Given the description of an element on the screen output the (x, y) to click on. 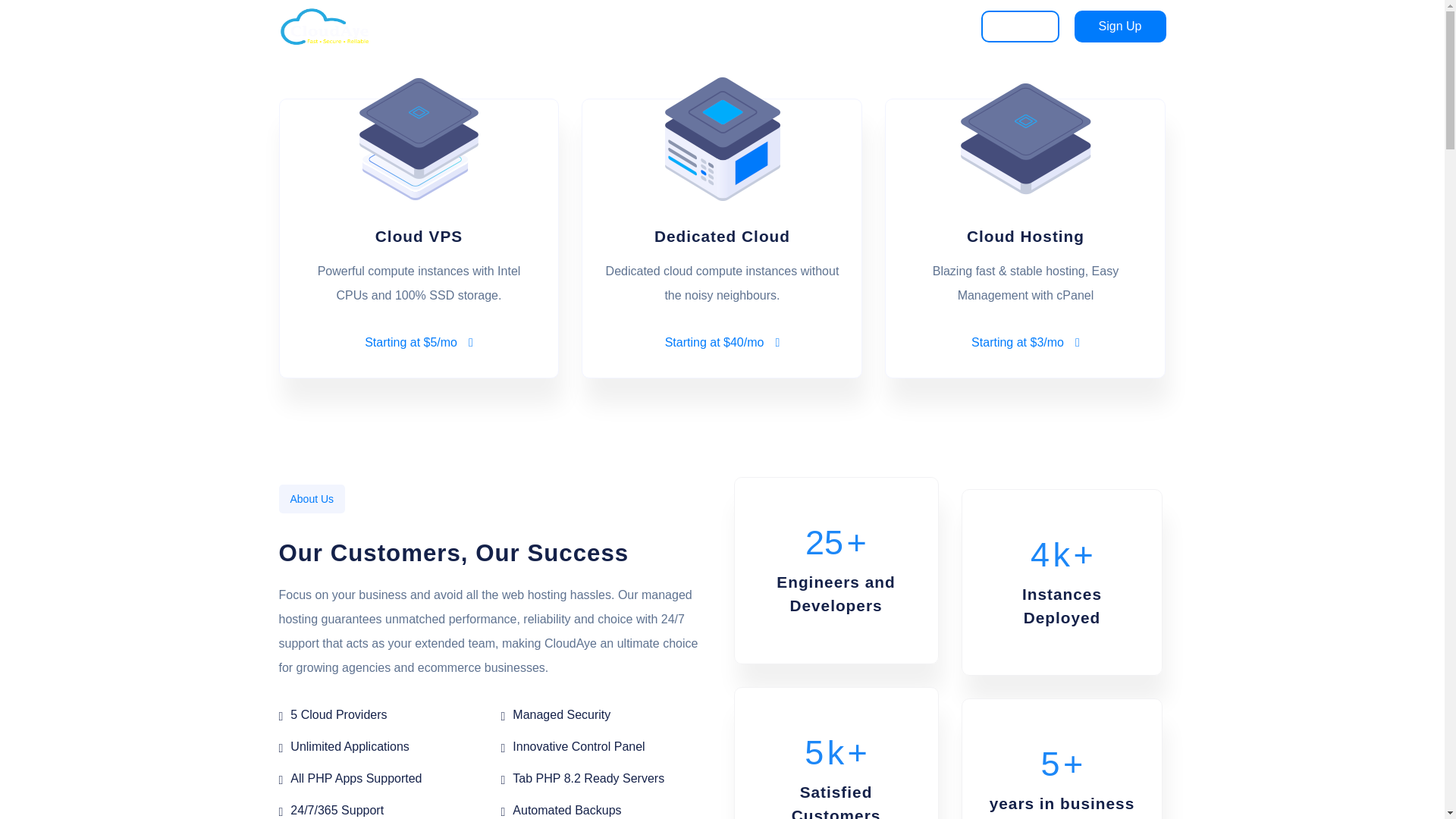
Dedicated Cloud (731, 25)
Login (1020, 26)
Cloud VPS (634, 25)
Company (924, 25)
Sign Up (1120, 26)
Cloud Hosting (837, 25)
